Given the description of an element on the screen output the (x, y) to click on. 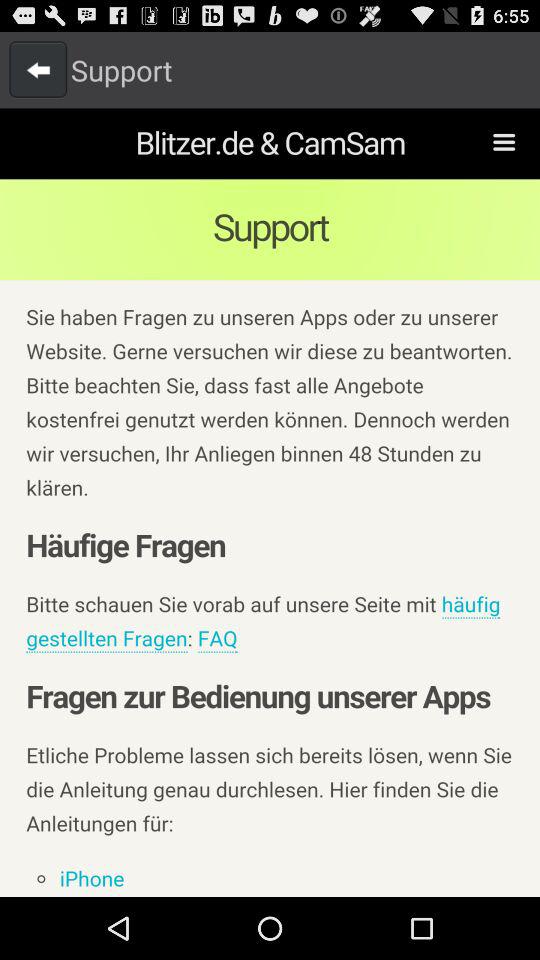
go back (38, 69)
